Given the description of an element on the screen output the (x, y) to click on. 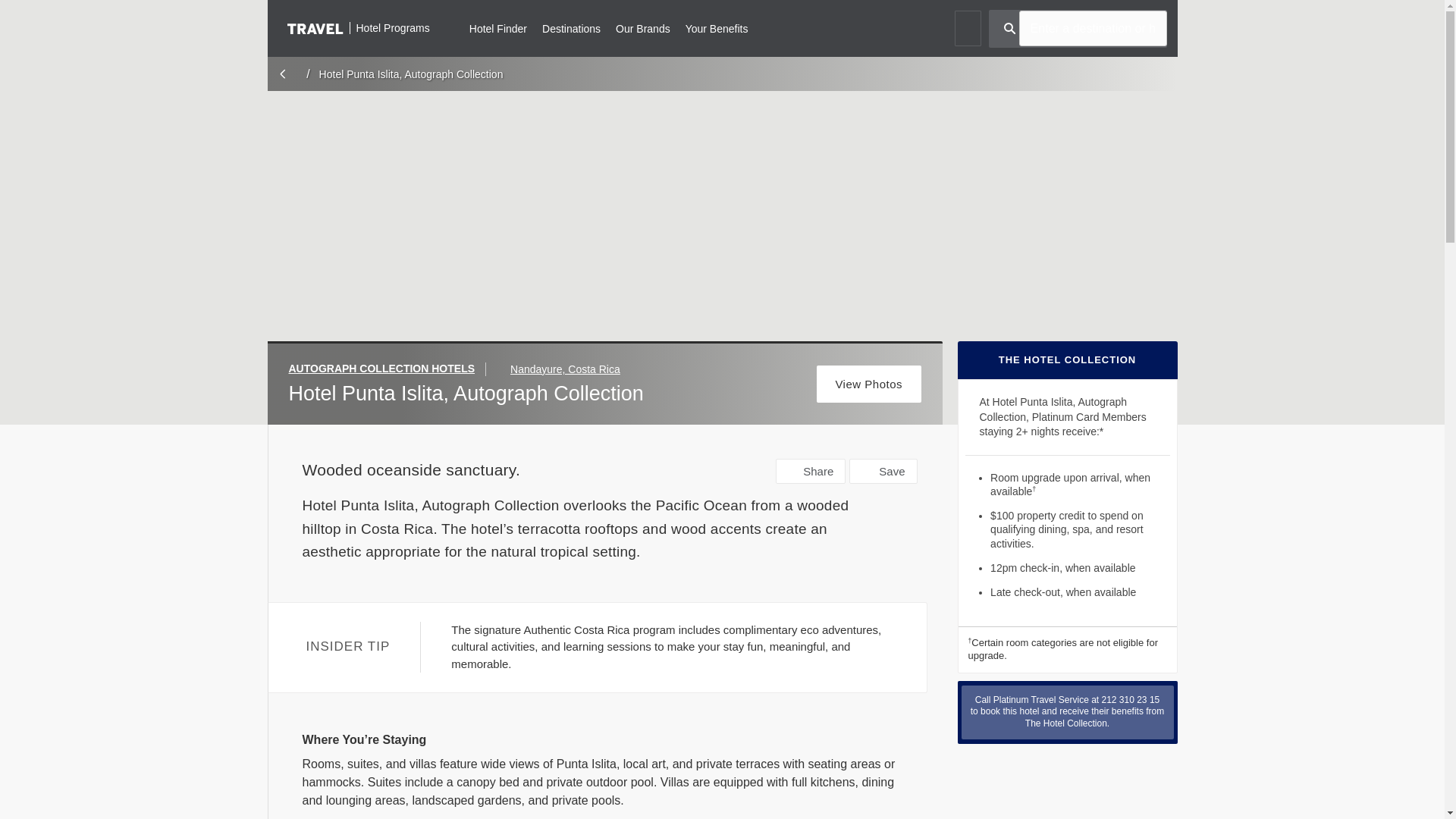
Share (810, 471)
Hotel Programs (357, 27)
Save (882, 471)
Nandayure, Costa Rica (565, 369)
AUTOGRAPH COLLECTION HOTELS (387, 368)
Hotel Finder (497, 27)
Our Brands (642, 27)
View Photos (868, 383)
Your Benefits (716, 27)
Destinations (570, 27)
